Given the description of an element on the screen output the (x, y) to click on. 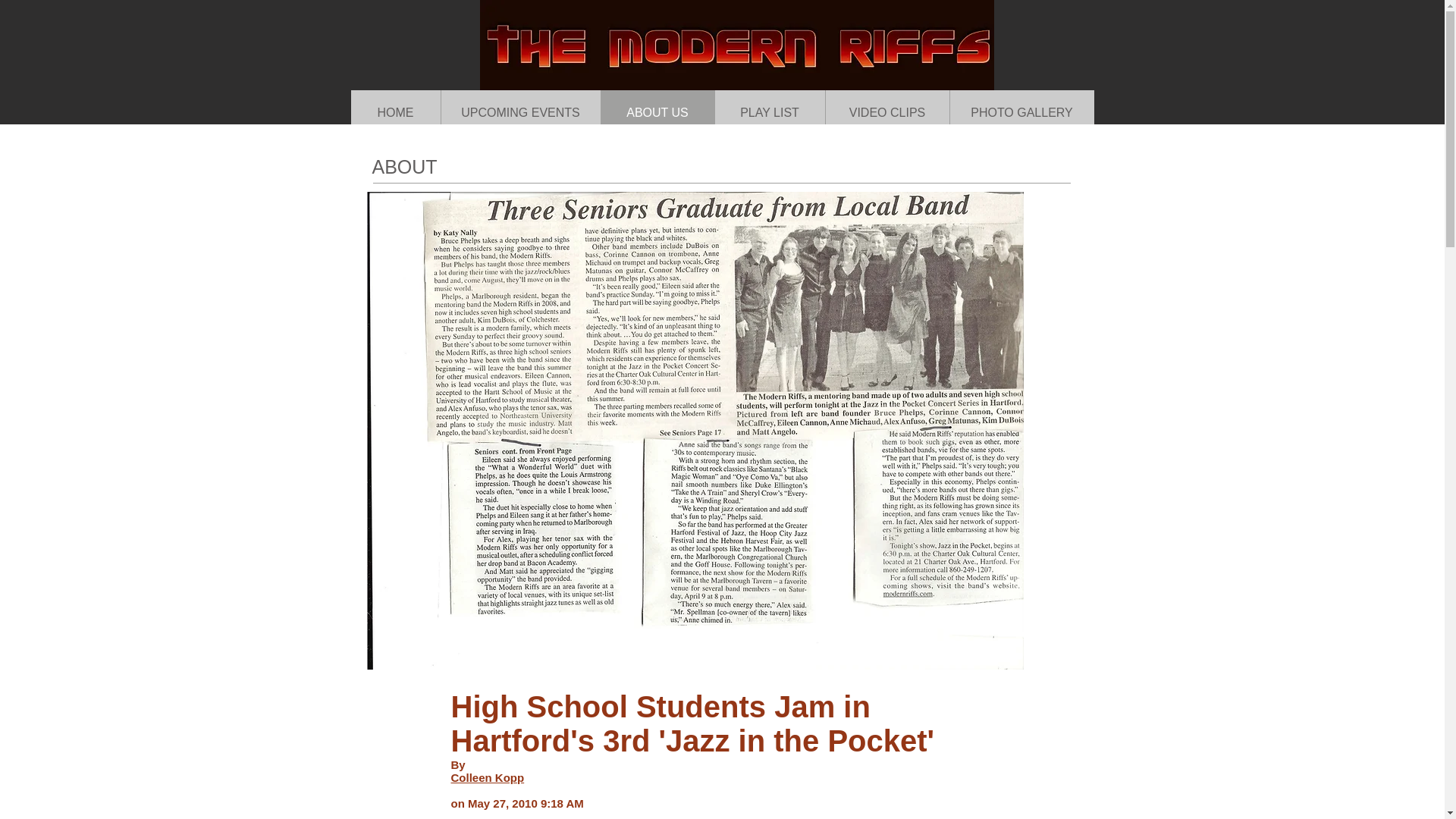
VIDEO CLIPS (887, 112)
PLAY LIST (769, 112)
UPCOMING EVENTS (519, 112)
Colleen Kopp (486, 777)
PHOTO GALLERY (1021, 112)
HOME (394, 112)
ABOUT US (656, 112)
